Given the description of an element on the screen output the (x, y) to click on. 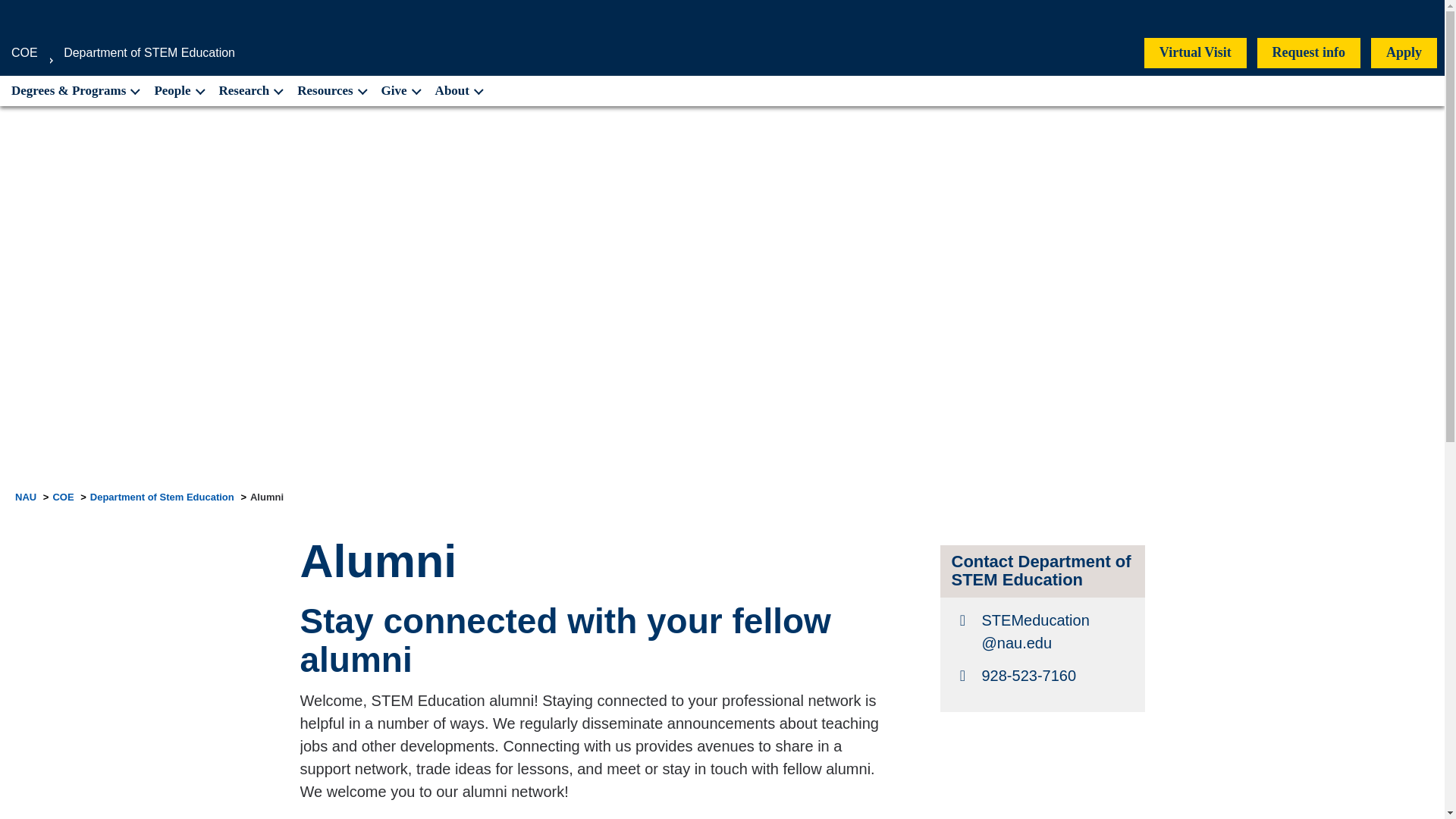
Give (401, 91)
Telephone Number (1041, 675)
COE (24, 52)
Virtual Visit (1195, 52)
Apply (1404, 52)
Research (250, 91)
People (179, 91)
Resources (330, 91)
About (458, 91)
Department of STEM Education (149, 52)
Email Address (1041, 630)
Request info (1309, 52)
